Given the description of an element on the screen output the (x, y) to click on. 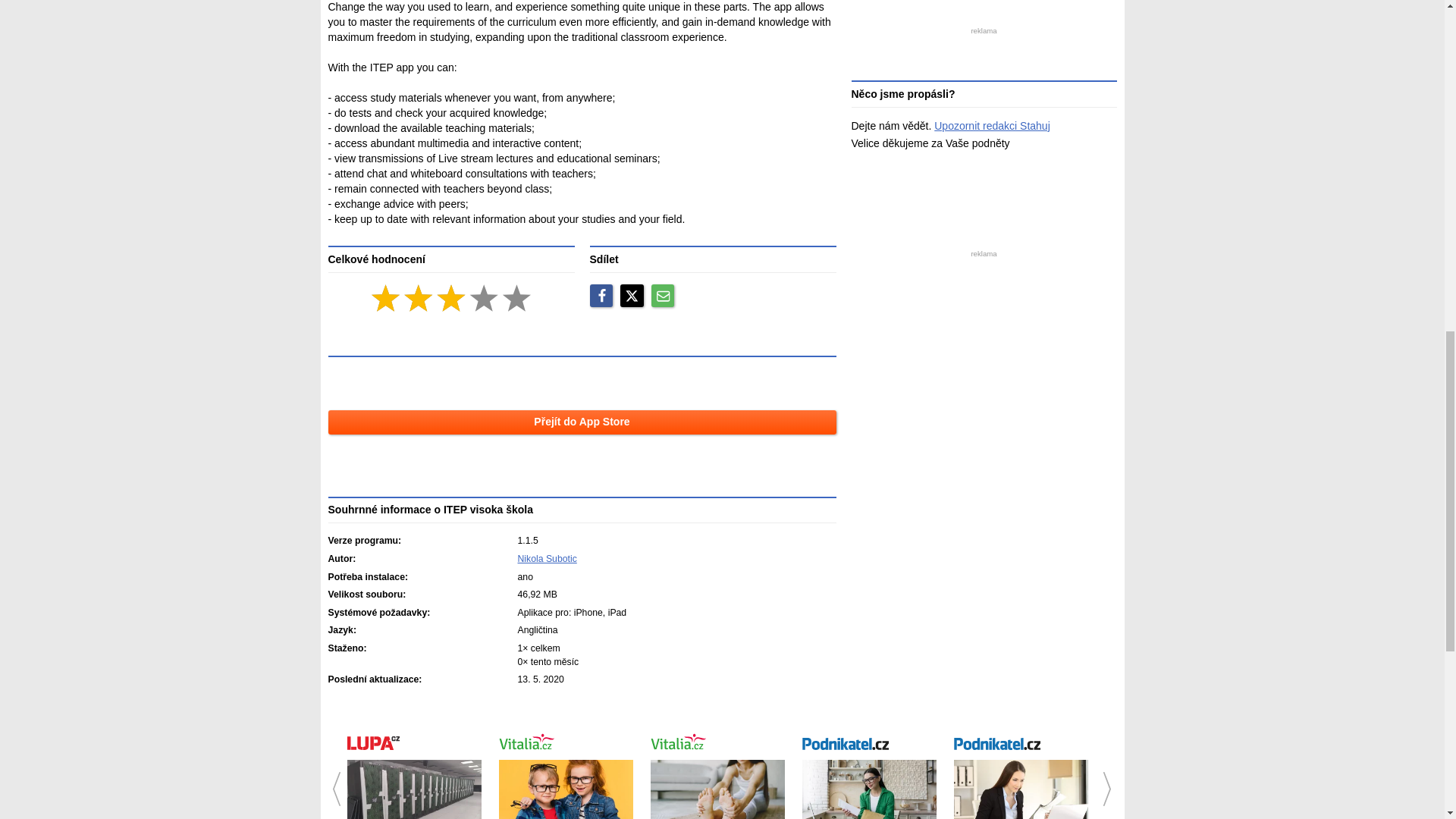
Nikola Subotic (546, 558)
